Given the description of an element on the screen output the (x, y) to click on. 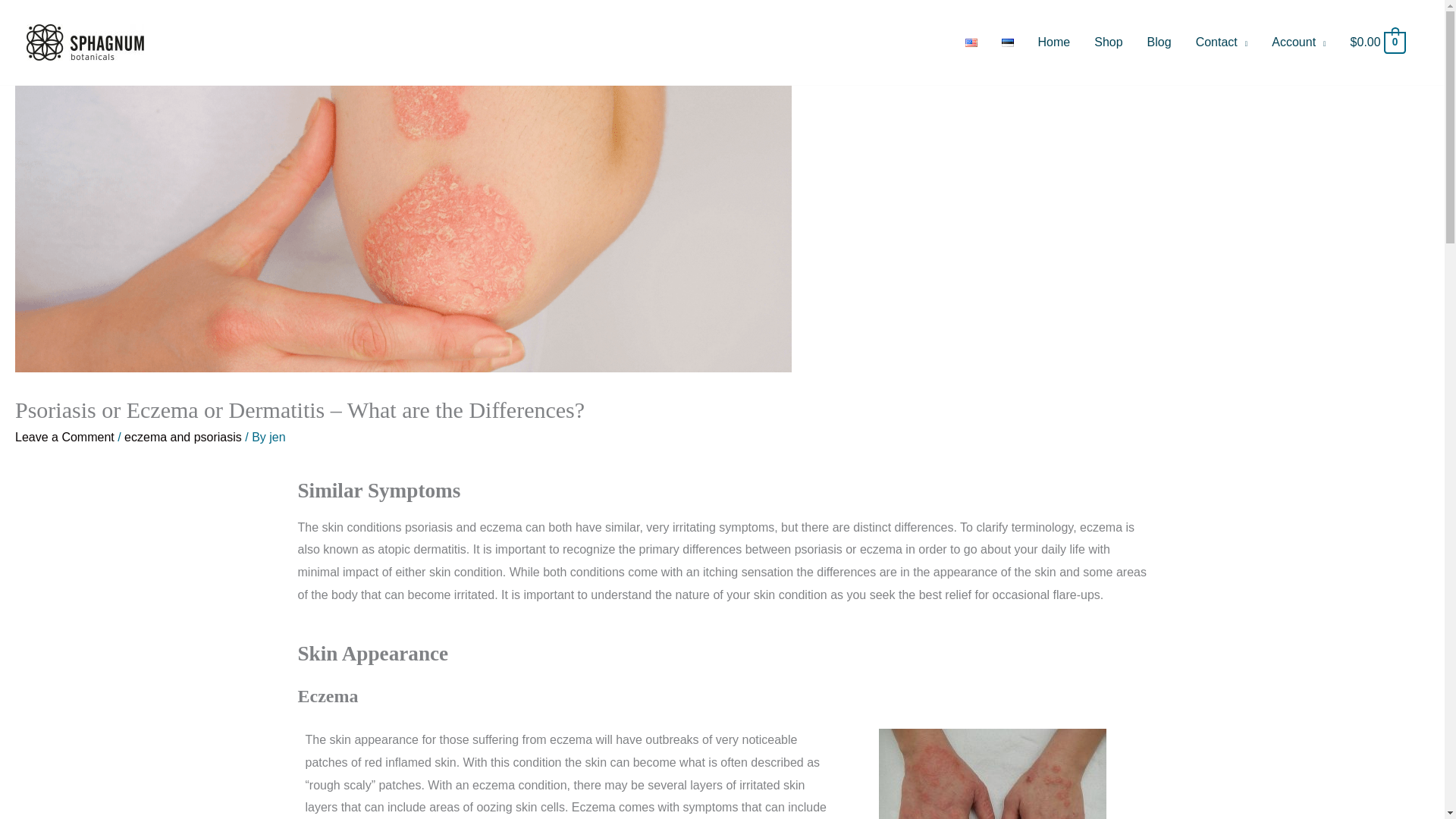
Shop (1107, 42)
View your shopping cart (1378, 42)
View all posts by jen (277, 436)
Home (1054, 42)
Leave a Comment (64, 436)
Account (1298, 42)
jen (277, 436)
